Given the description of an element on the screen output the (x, y) to click on. 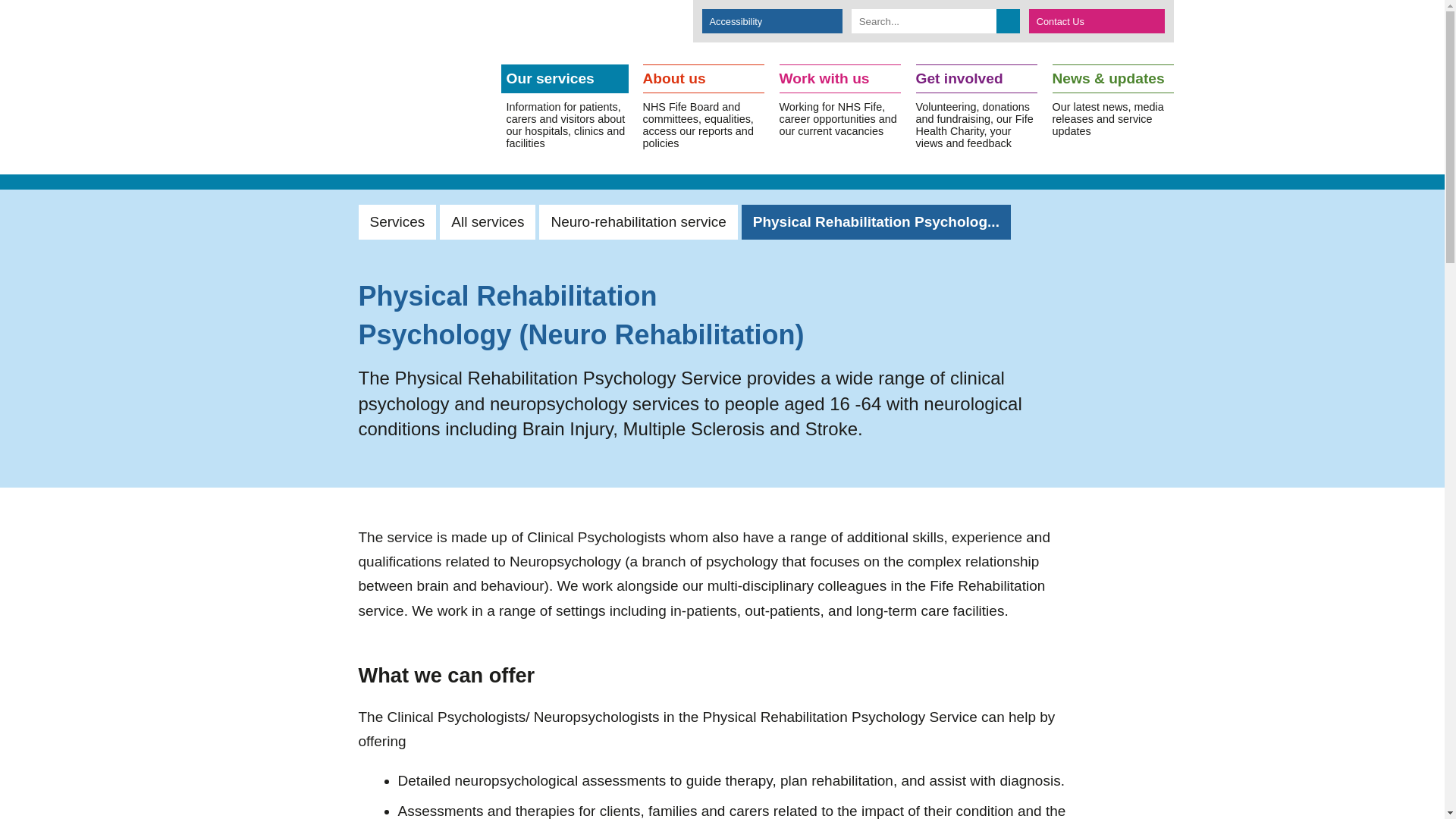
Contact Us (1096, 21)
Services (396, 221)
All services (487, 221)
Accessibility (772, 21)
Neuro-rehabilitation service (637, 221)
